Given the description of an element on the screen output the (x, y) to click on. 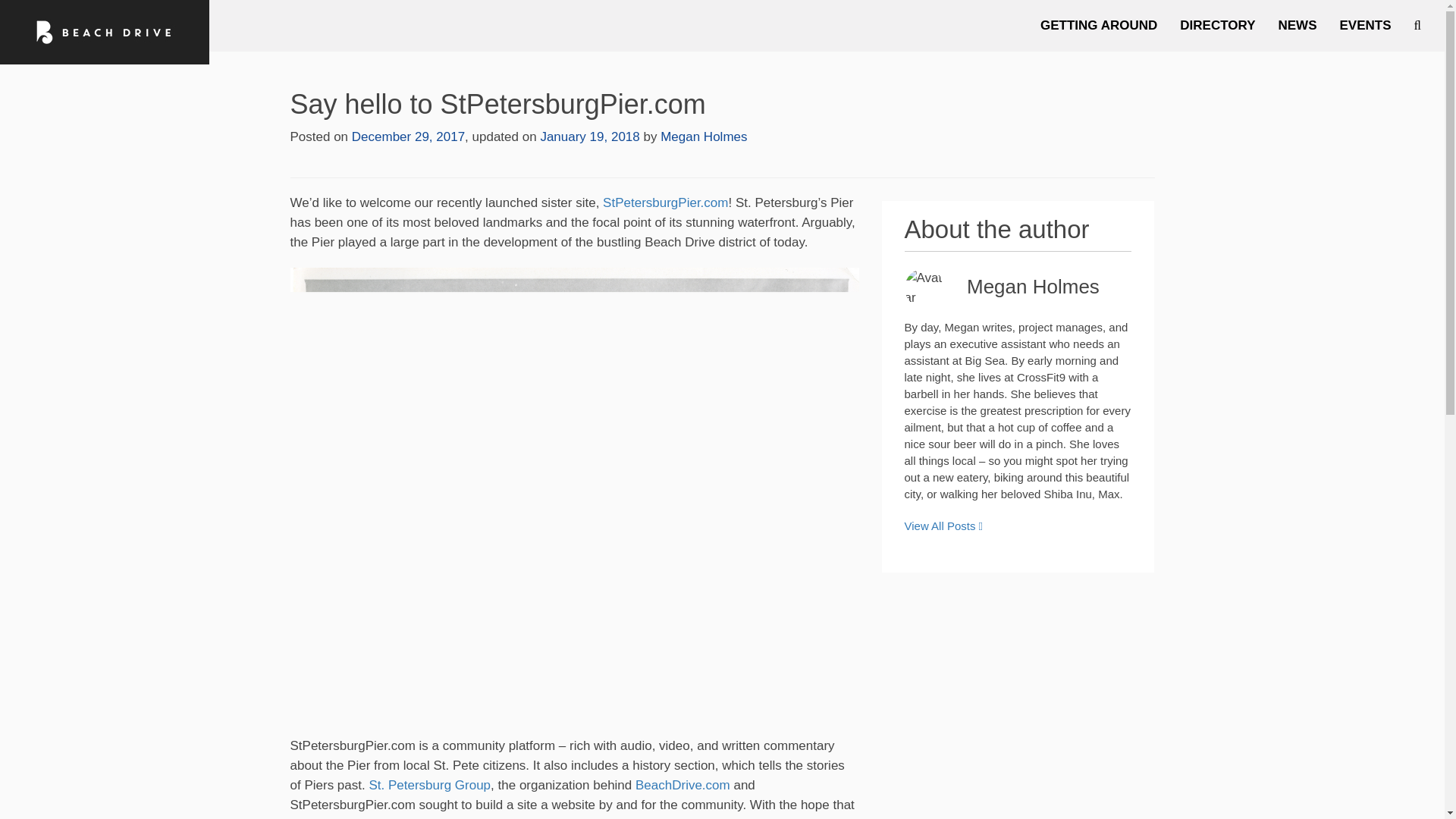
DIRECTORY (1217, 25)
EVENTS (1364, 25)
BeachDrive.com (682, 785)
StPetersburgPier.com (663, 202)
Directory (1217, 25)
St. Petersburg Group (429, 785)
News (1296, 25)
4:28 pm (589, 136)
Beach Drive (104, 32)
Getting Around (1099, 25)
